Given the description of an element on the screen output the (x, y) to click on. 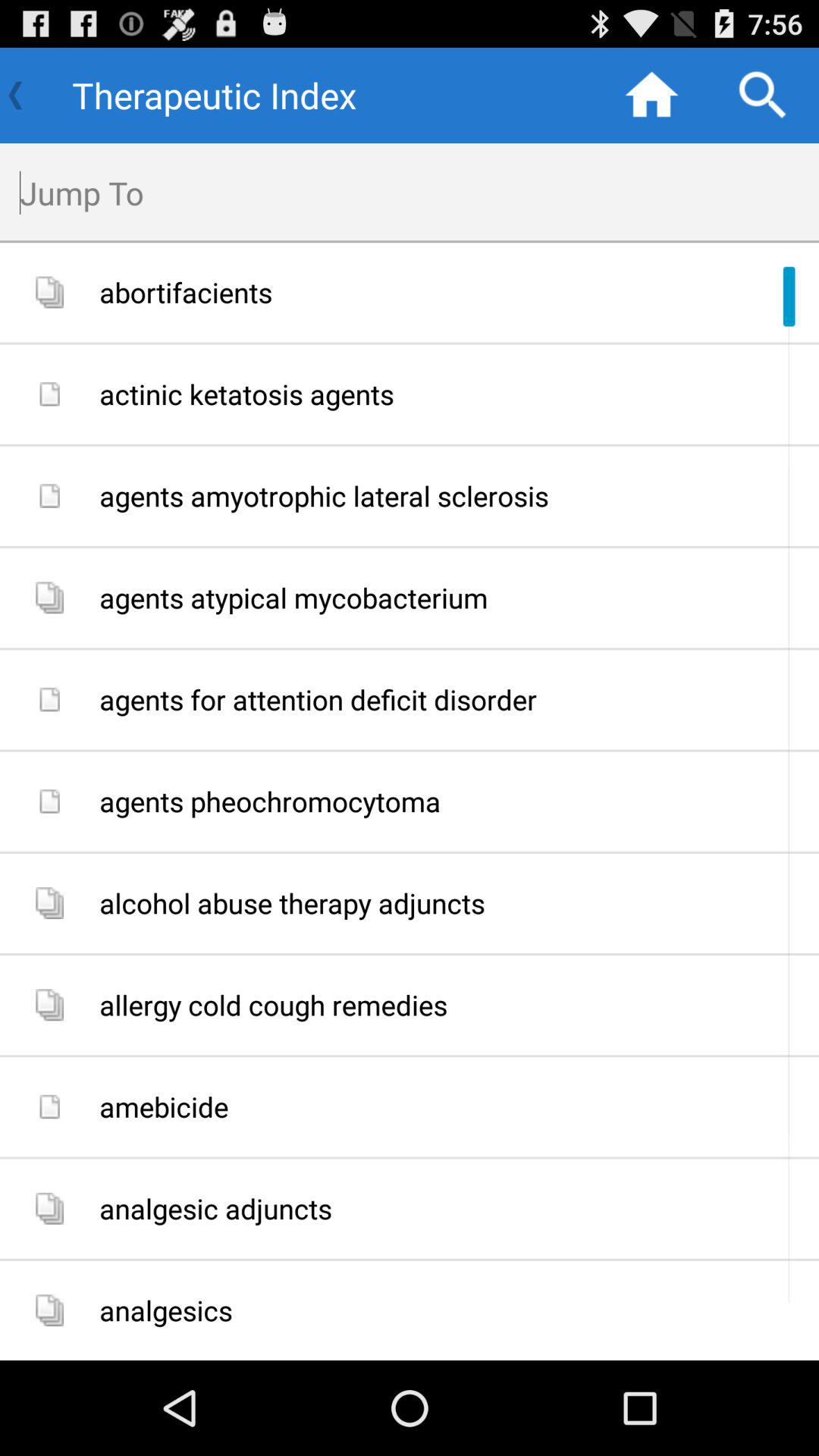
press icon below the alcohol abuse therapy (453, 1005)
